Given the description of an element on the screen output the (x, y) to click on. 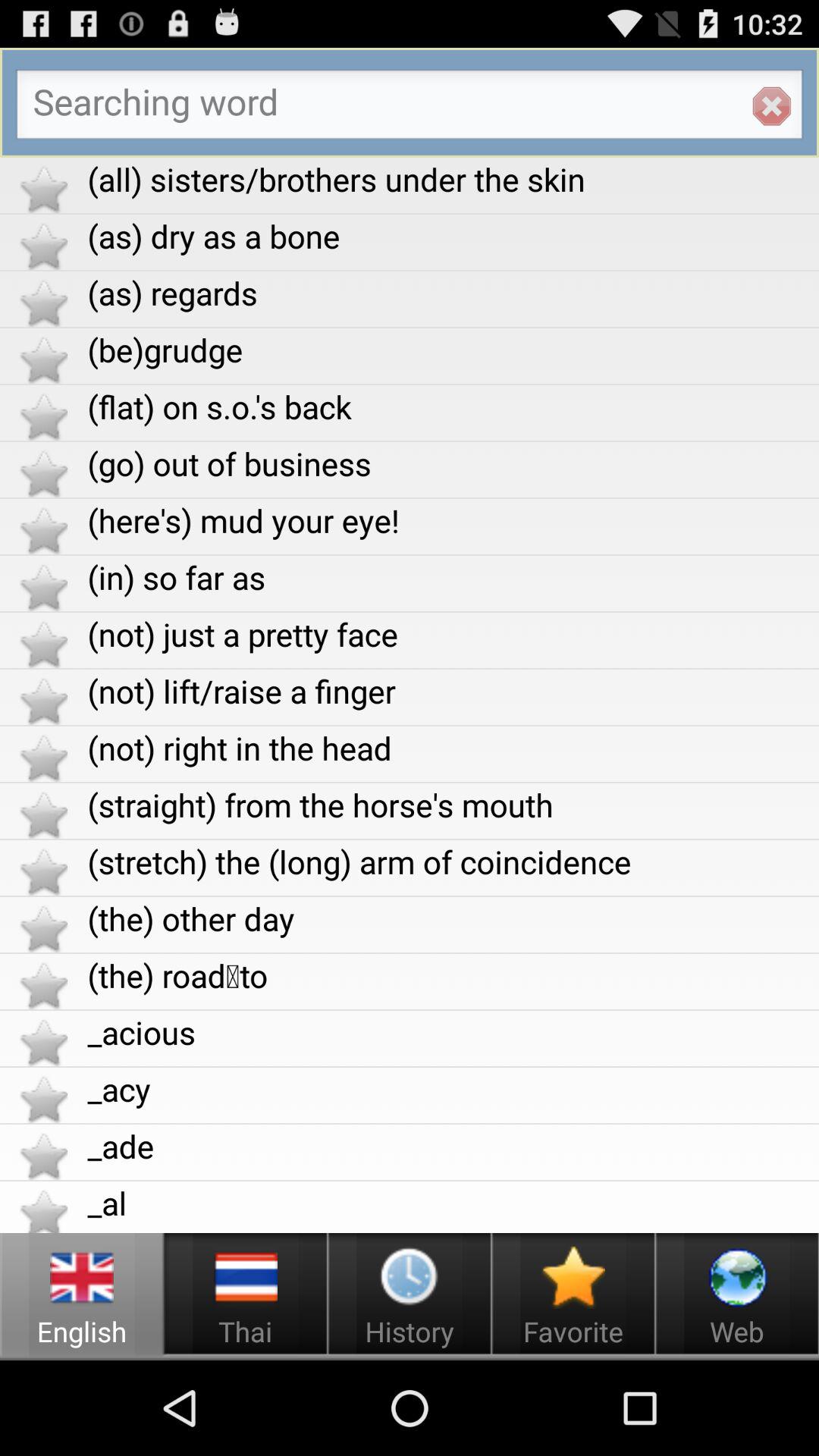
flip to in so far (453, 576)
